Given the description of an element on the screen output the (x, y) to click on. 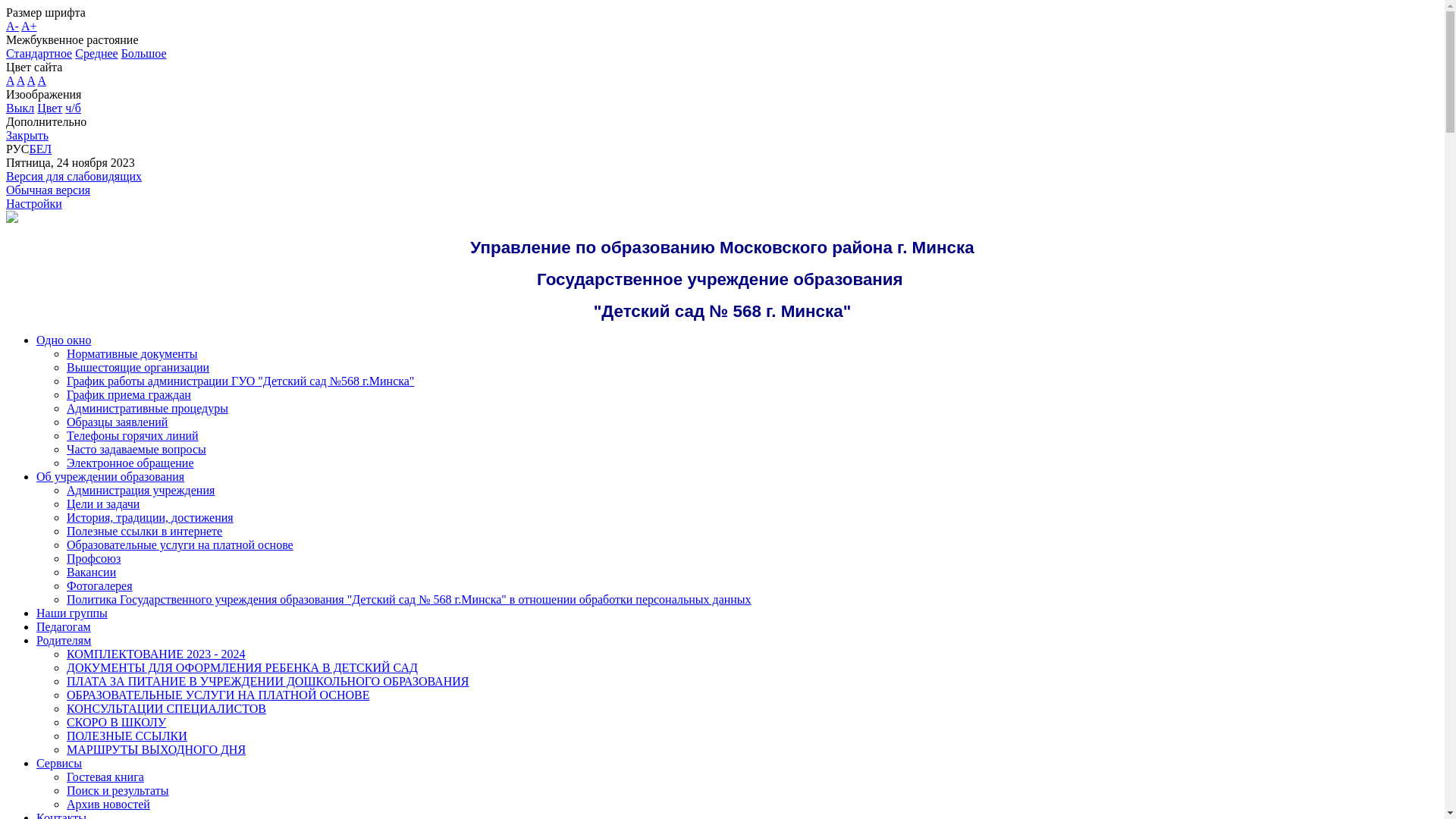
A- Element type: text (12, 25)
A Element type: text (41, 80)
A Element type: text (10, 80)
A Element type: text (20, 80)
A Element type: text (31, 80)
A+ Element type: text (29, 25)
